Given the description of an element on the screen output the (x, y) to click on. 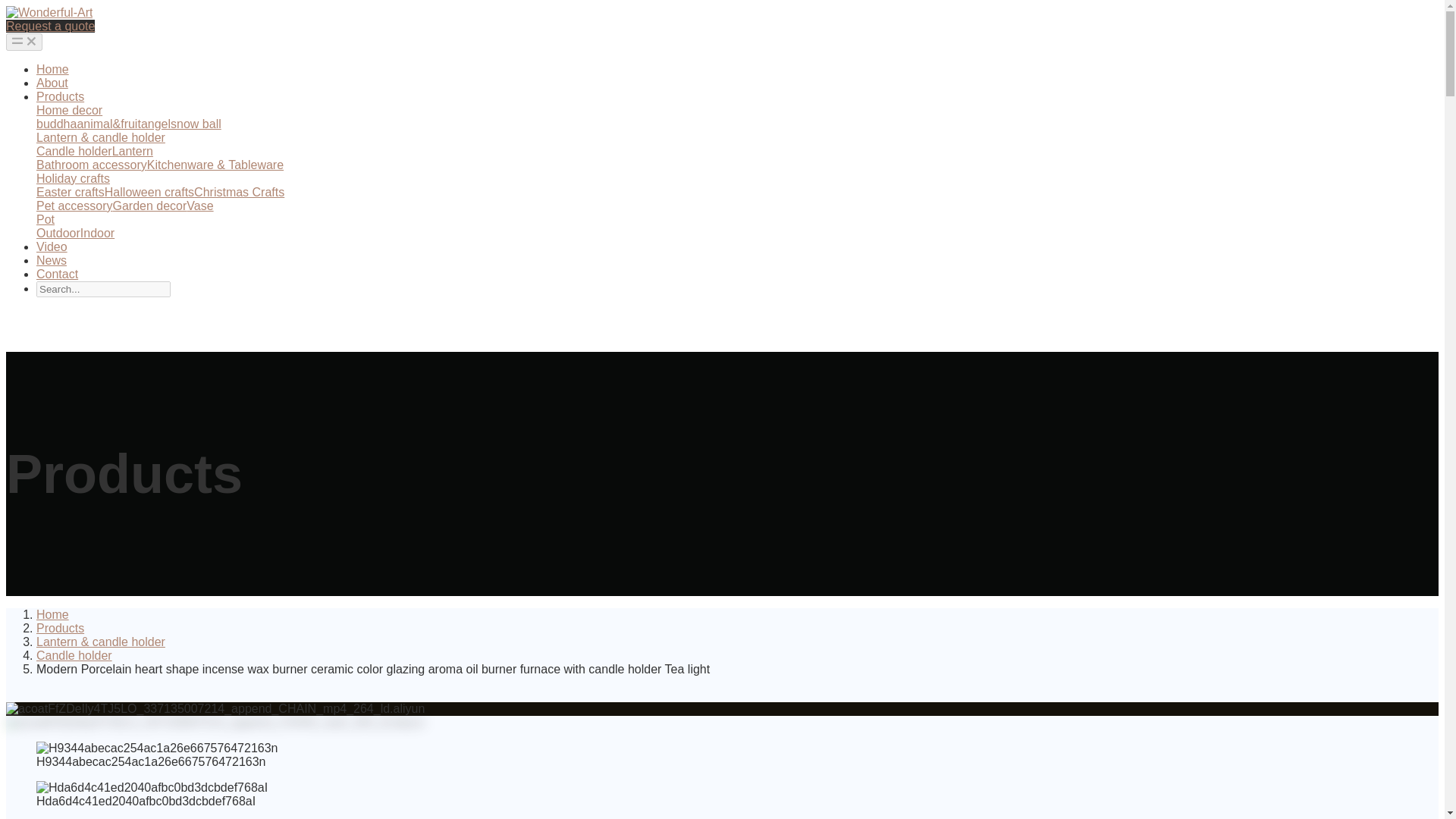
buddha (56, 123)
Bathroom accessory (91, 164)
Products (60, 627)
Garden decor (149, 205)
Vase (199, 205)
Lantern (132, 151)
angel (155, 123)
Easter crafts (70, 192)
Bathroom accessory (91, 164)
Easter crafts (70, 192)
Holiday crafts (73, 178)
Lantern (132, 151)
snow ball (195, 123)
About (52, 82)
Home decor (68, 110)
